Given the description of an element on the screen output the (x, y) to click on. 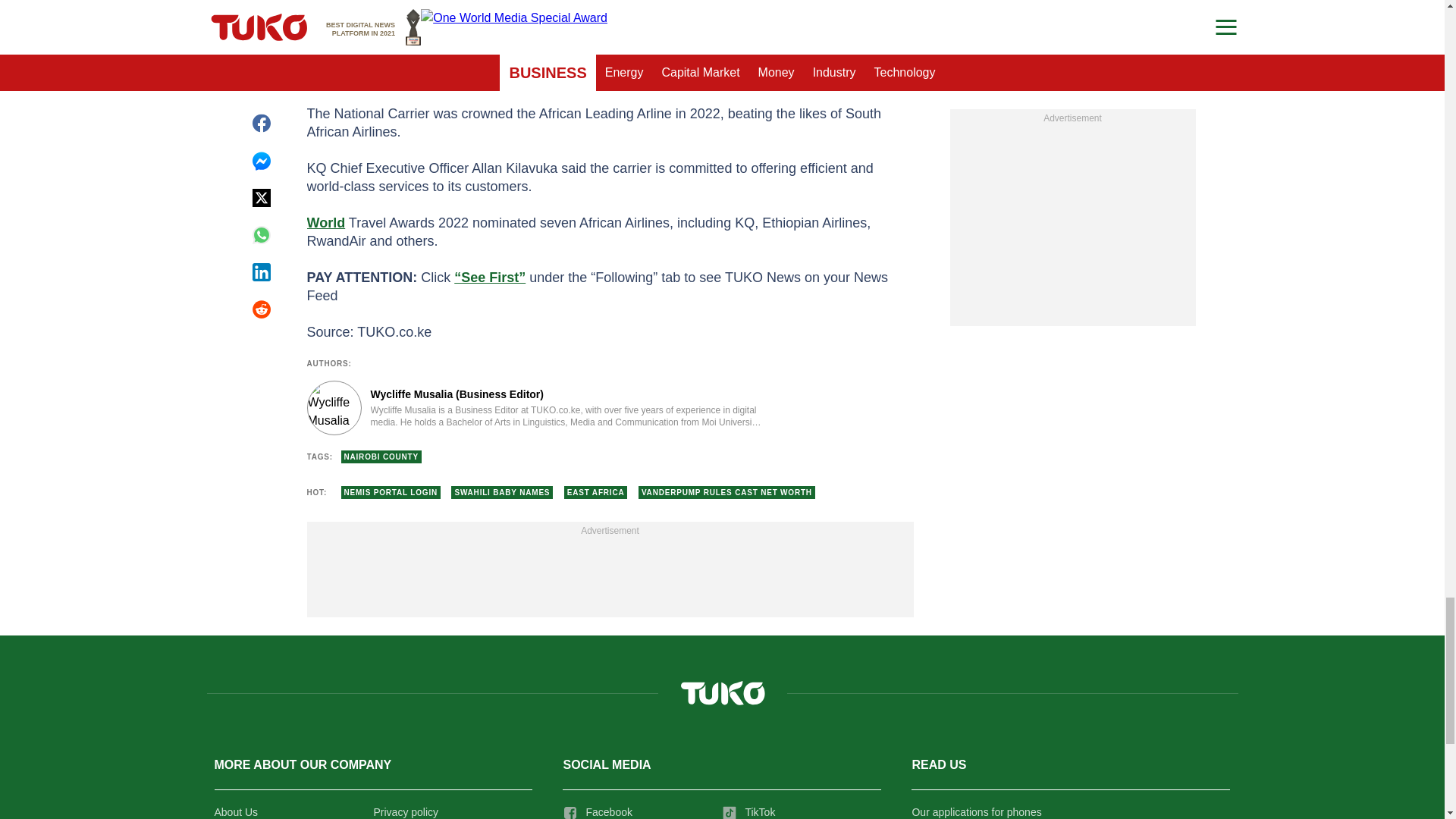
Author page (533, 407)
